Given the description of an element on the screen output the (x, y) to click on. 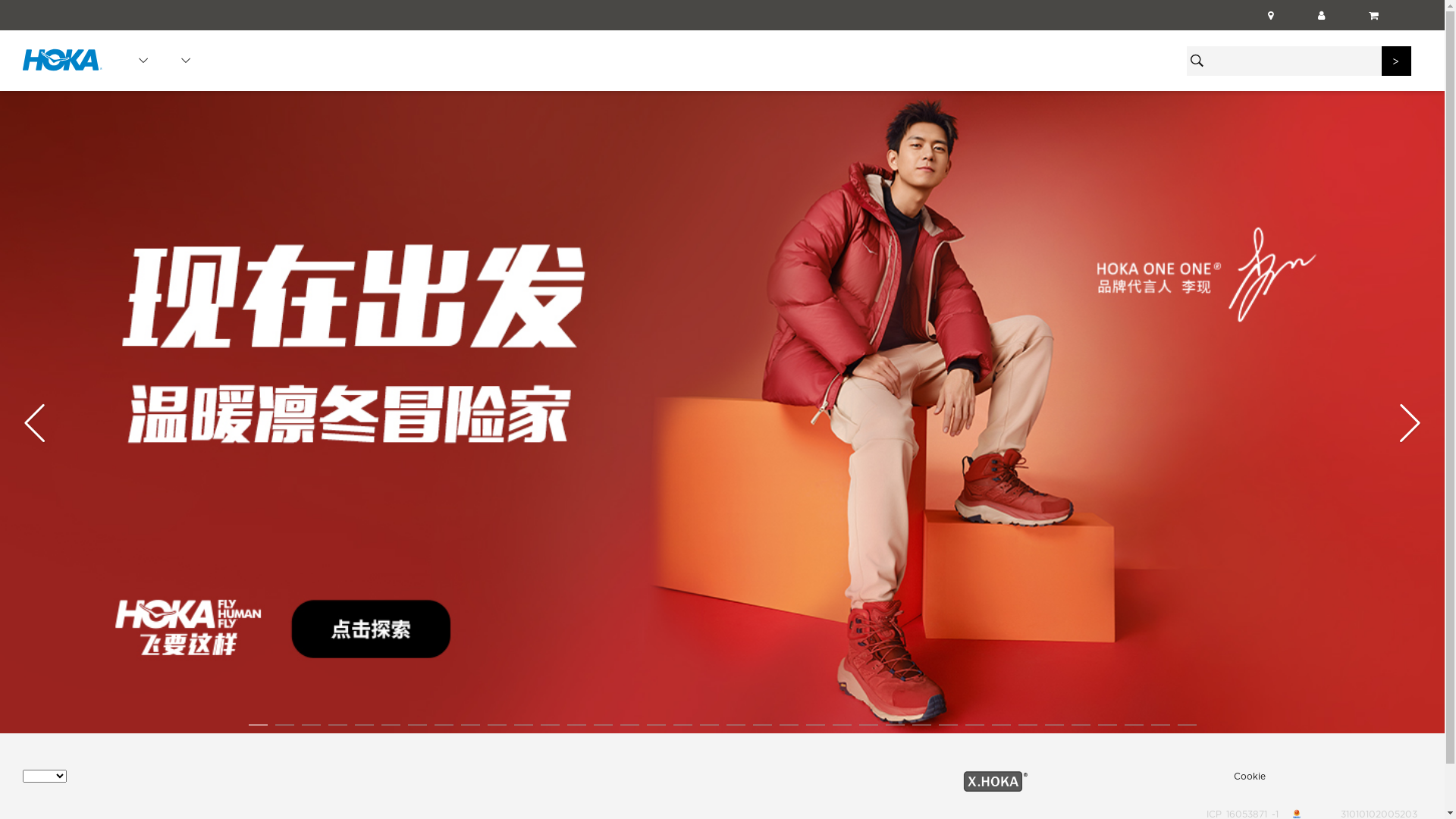
Skip to content Element type: text (112, 29)
> Element type: text (1396, 60)
